Given the description of an element on the screen output the (x, y) to click on. 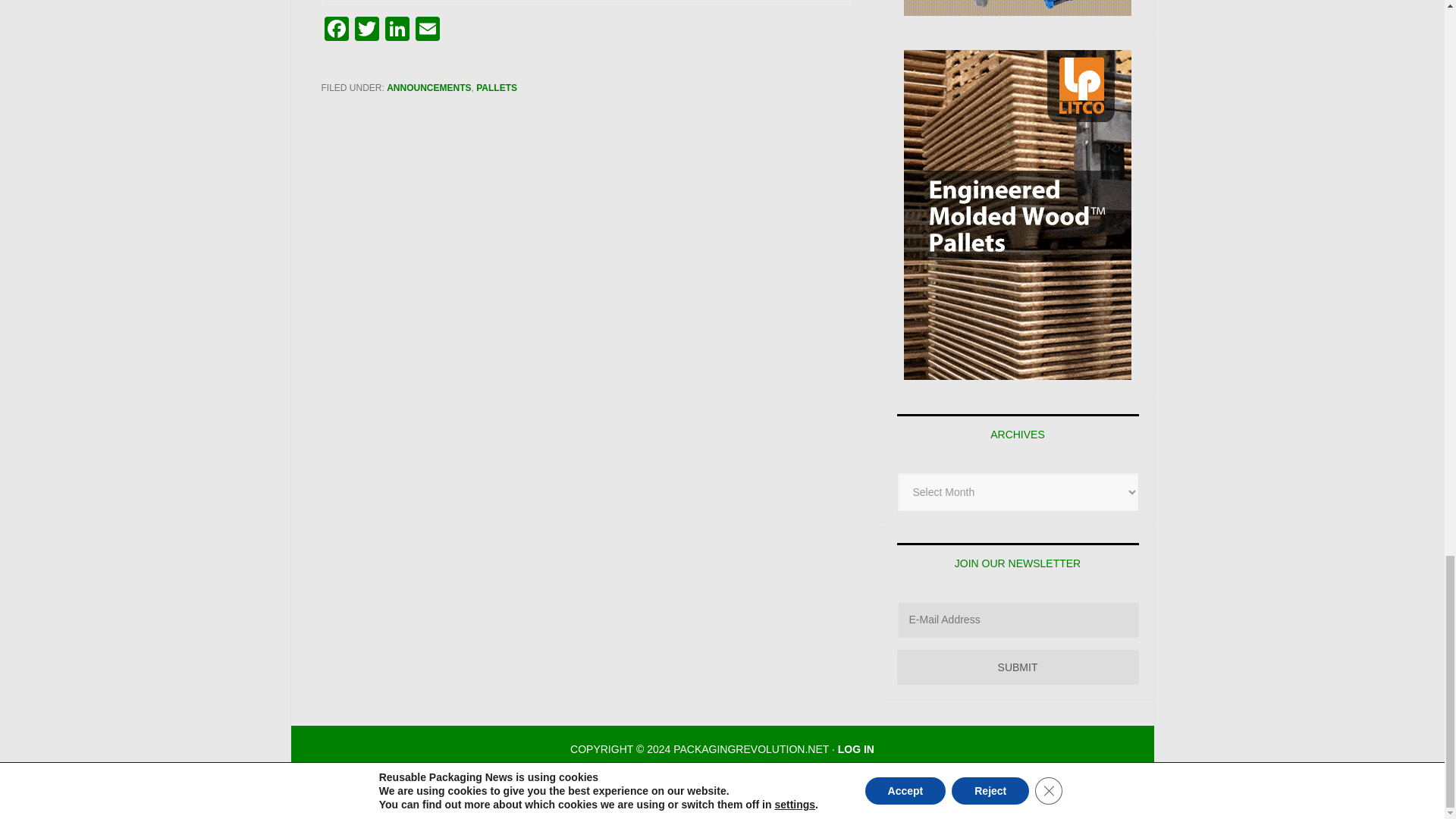
Email (427, 30)
Facebook (336, 30)
LinkedIn (396, 30)
Twitter (366, 30)
Facebook (336, 30)
SUBMIT (1017, 667)
Triple Diamond Plastics (1017, 7)
